Given the description of an element on the screen output the (x, y) to click on. 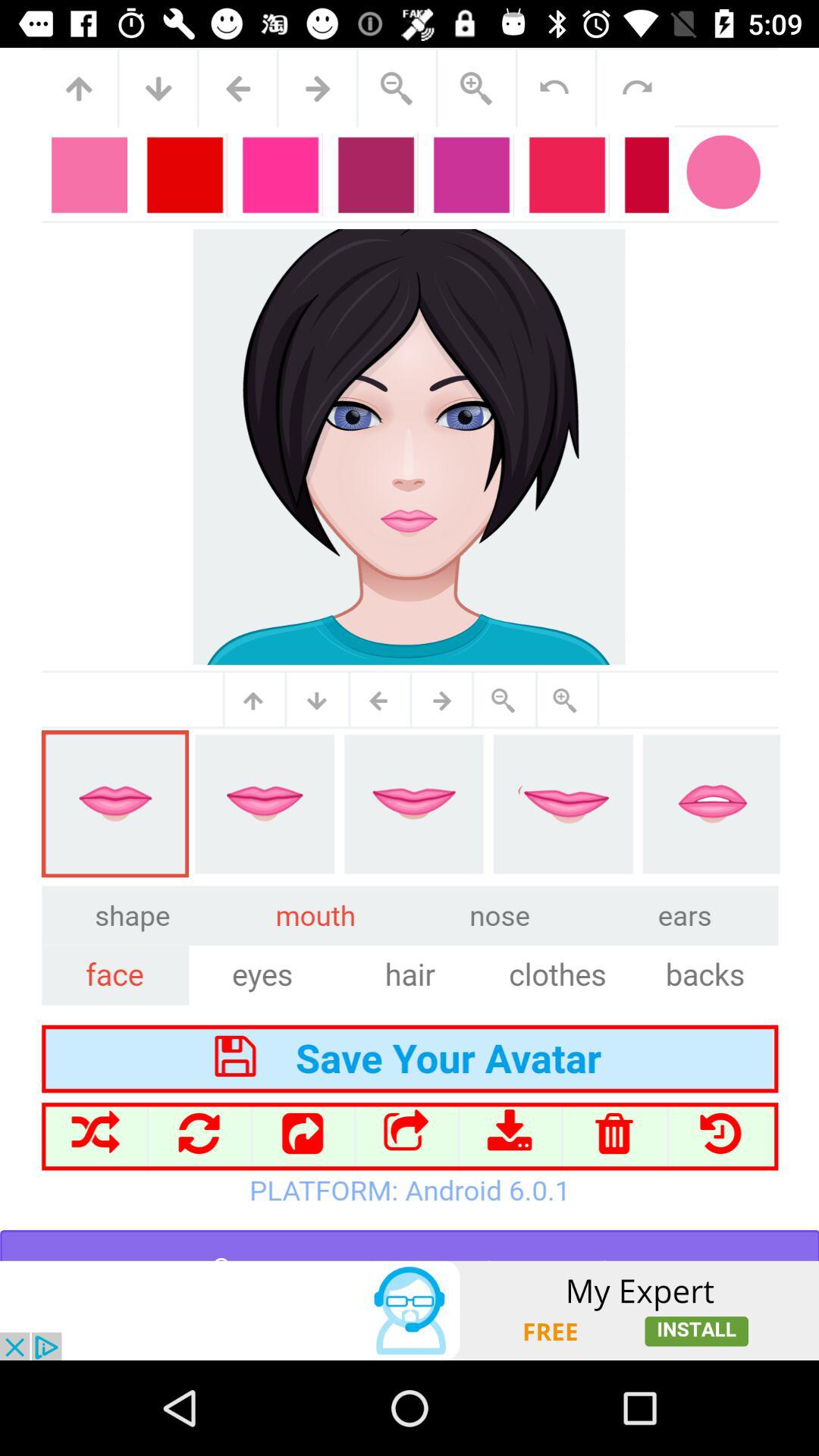
select mouth shape (409, 653)
